Given the description of an element on the screen output the (x, y) to click on. 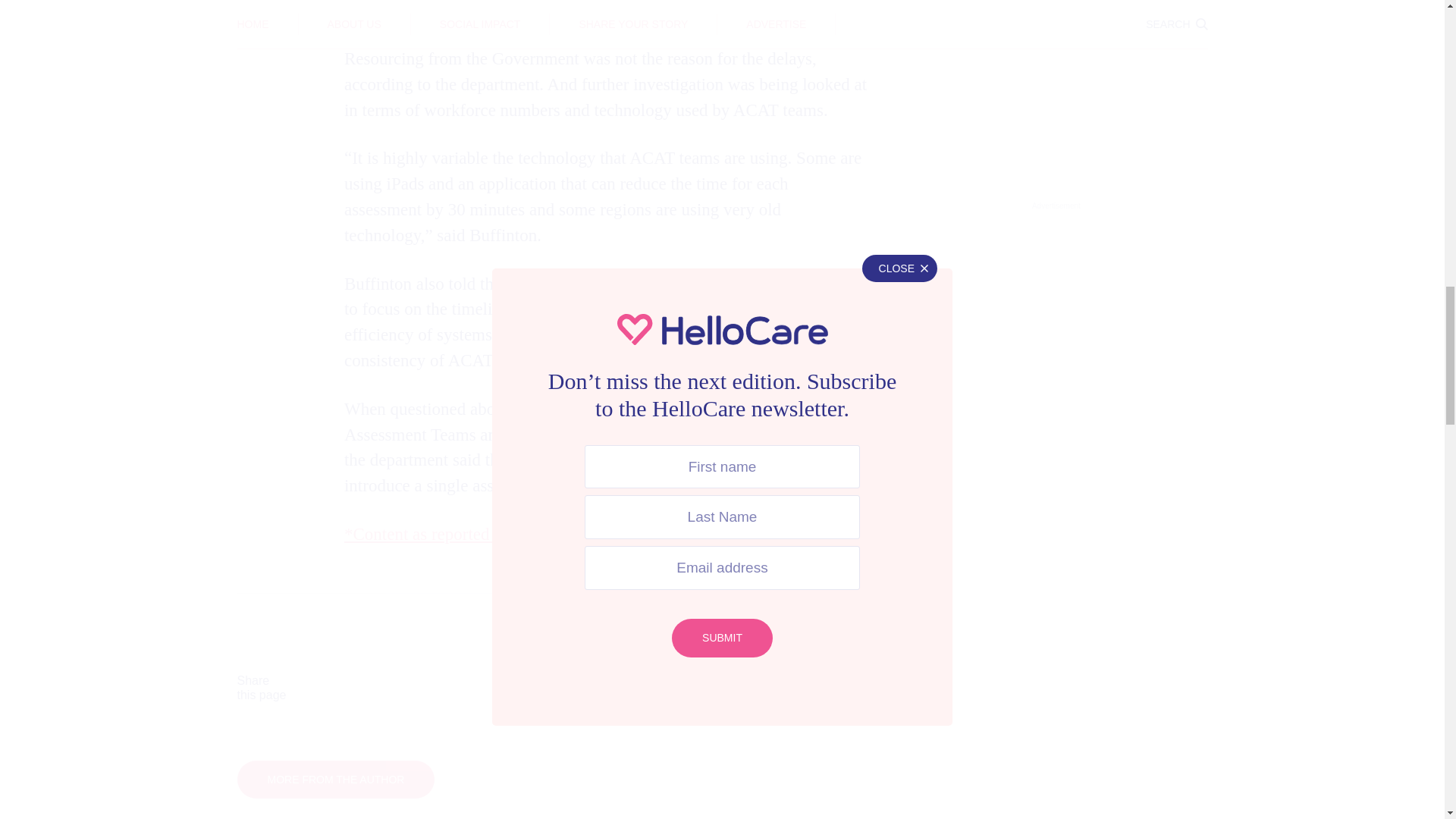
Share on linkedIn (652, 688)
Share on Facebook (372, 688)
Share via Email (792, 688)
Share on Twitter (512, 688)
